Given the description of an element on the screen output the (x, y) to click on. 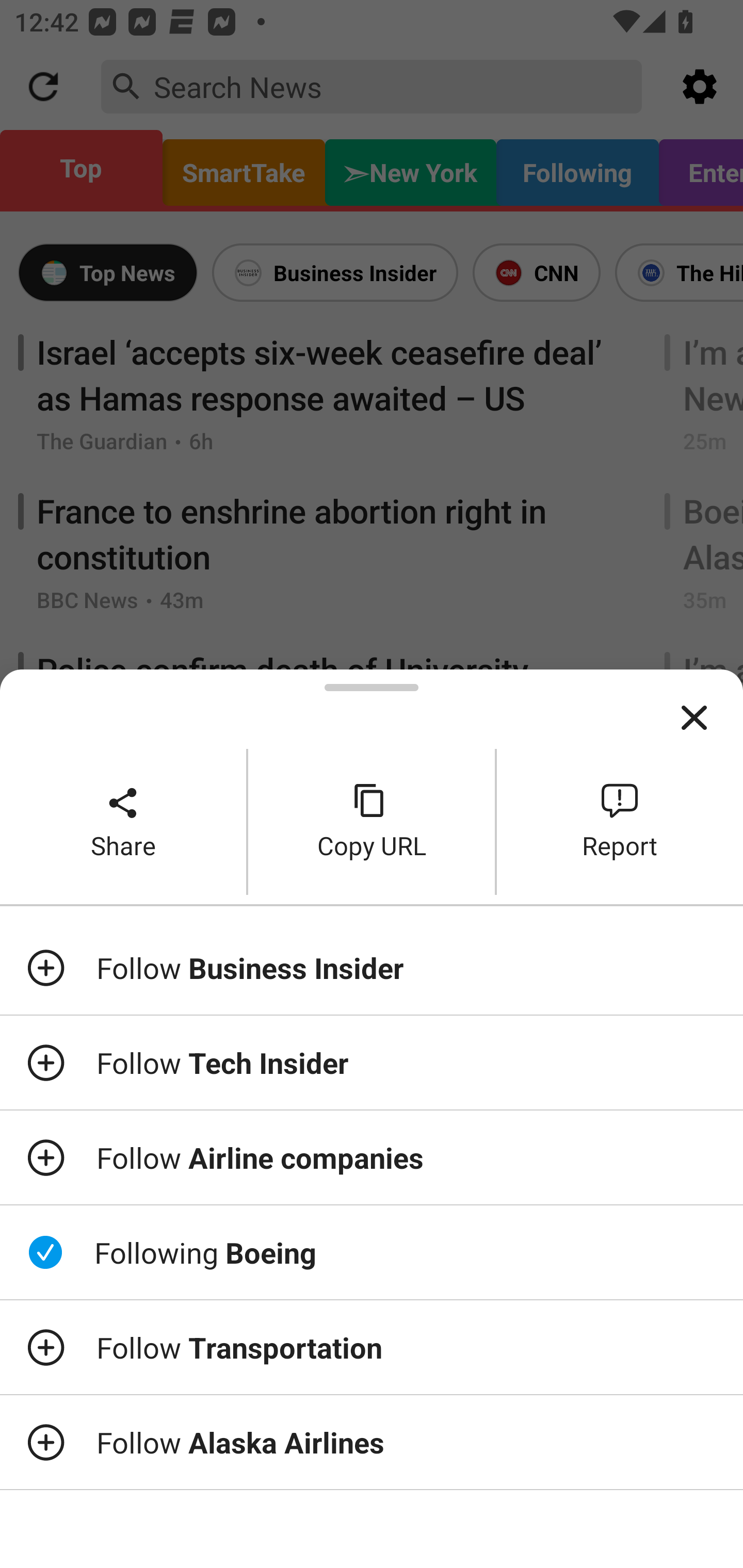
Close (694, 717)
Share (122, 822)
Copy URL (371, 822)
Report (620, 822)
Follow Business Insider (371, 967)
Follow Tech Insider (371, 1063)
Follow Airline companies (371, 1157)
Following Boeing (371, 1252)
Follow Transportation (371, 1346)
Follow Alaska Airlines (371, 1442)
